Given the description of an element on the screen output the (x, y) to click on. 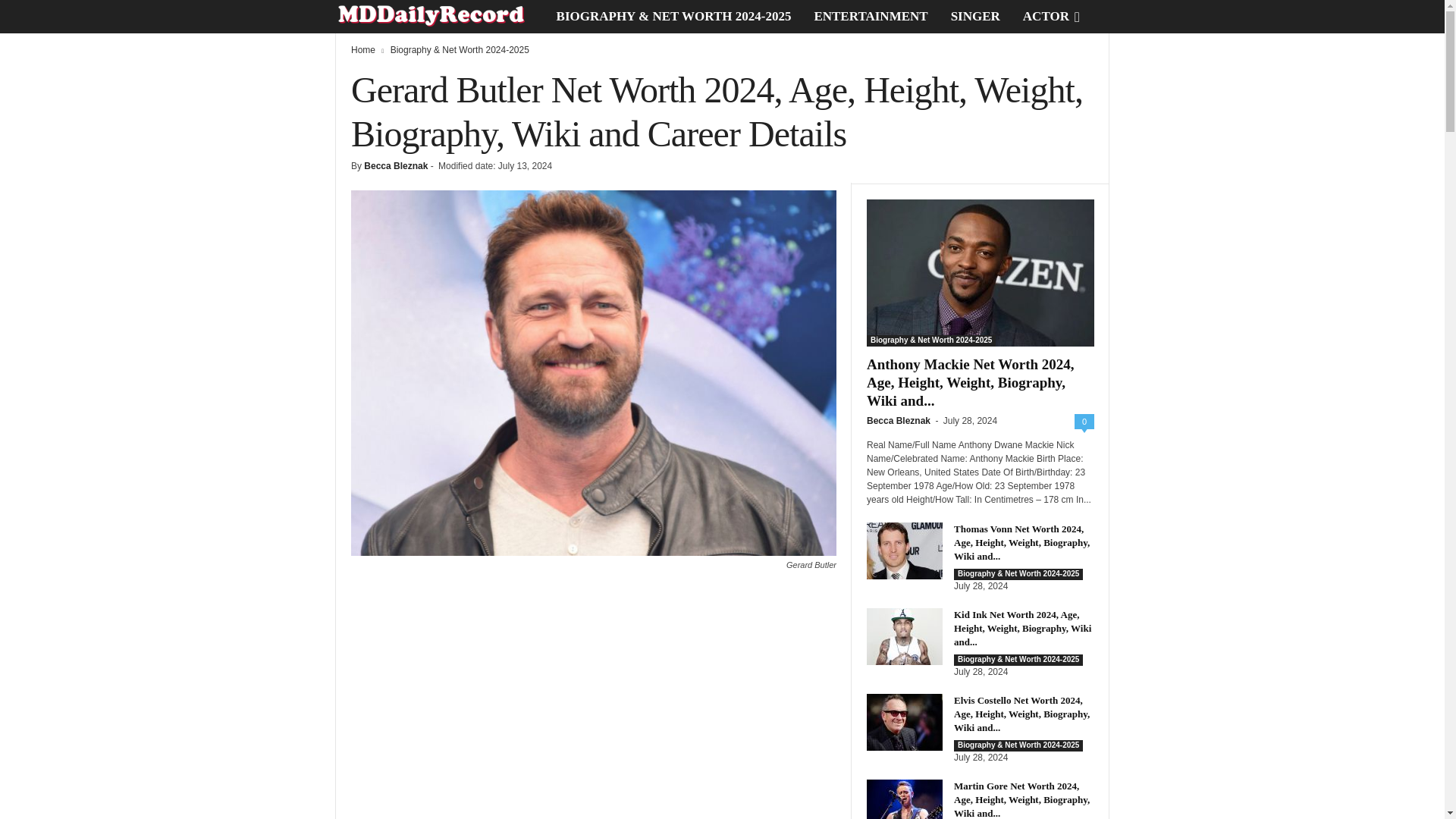
ENTERTAINMENT (870, 16)
ACTOR (1045, 16)
SINGER (975, 16)
Becca Bleznak (396, 165)
Home (362, 50)
MD Daily Record (439, 16)
Advertisement (592, 705)
